Given the description of an element on the screen output the (x, y) to click on. 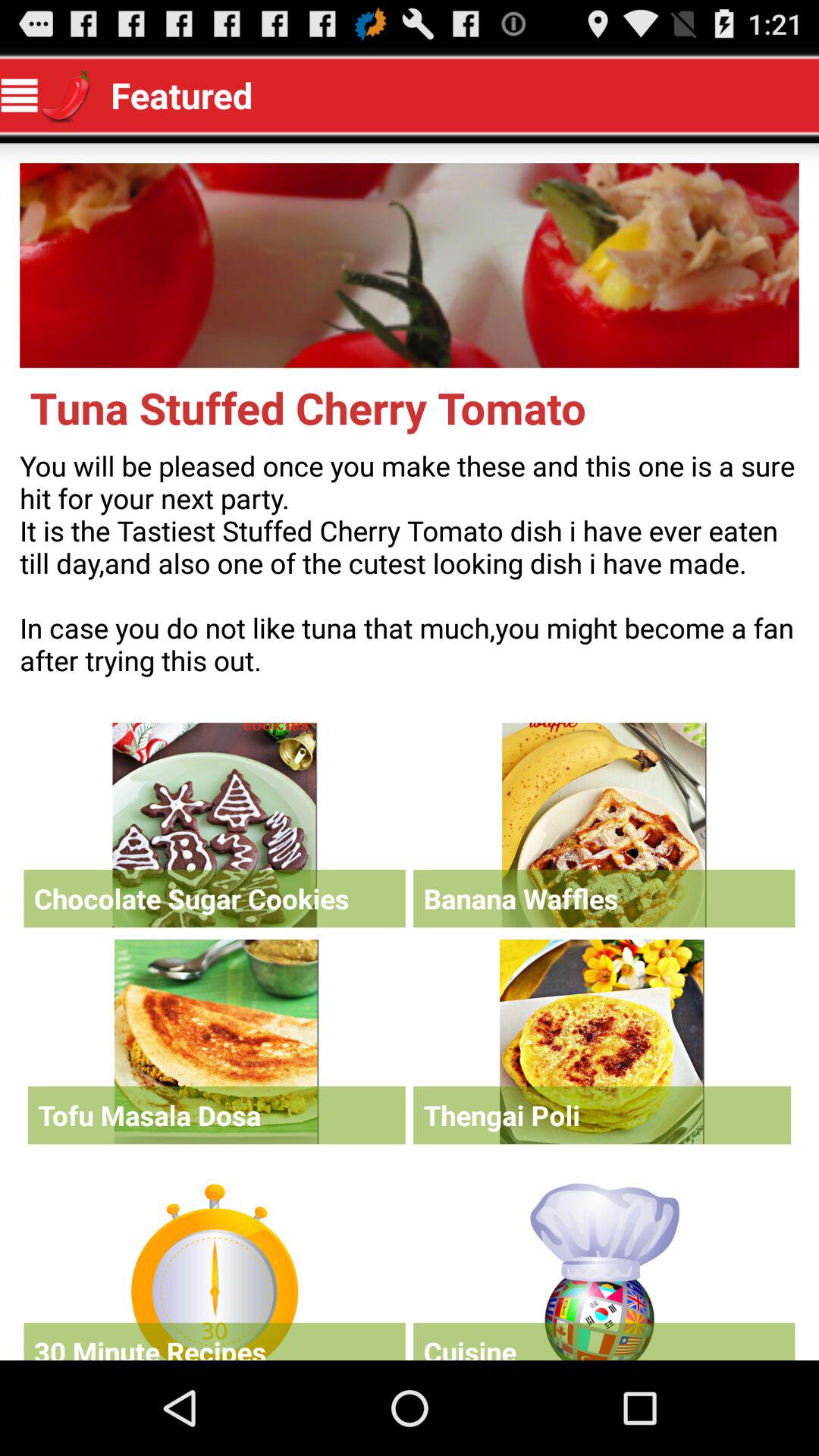
go to page (214, 1268)
